Given the description of an element on the screen output the (x, y) to click on. 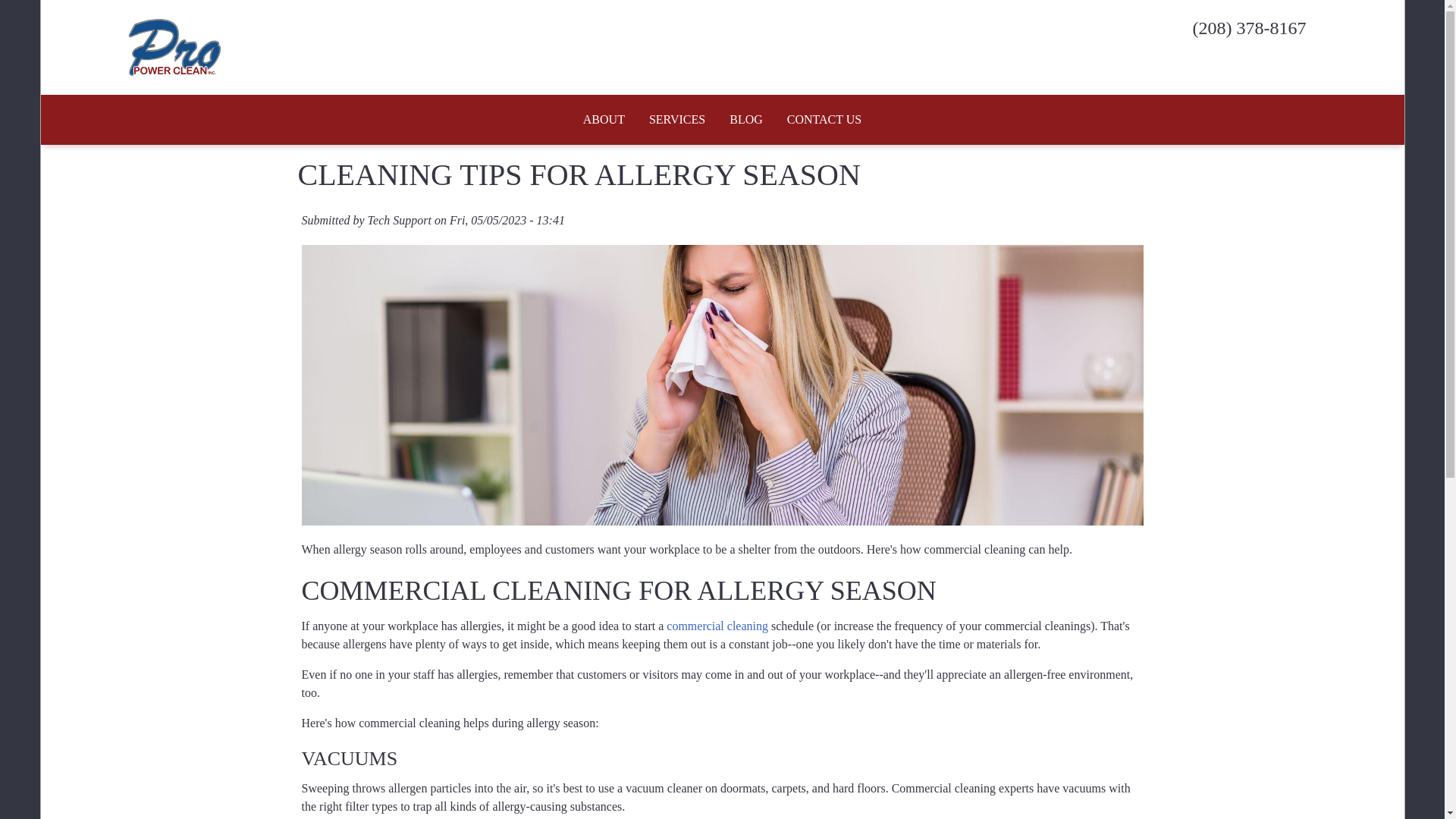
Home (227, 47)
commercial cleaning (717, 625)
ABOUT (603, 119)
BLOG (745, 119)
SERVICES (677, 119)
CONTACT US (823, 119)
